Given the description of an element on the screen output the (x, y) to click on. 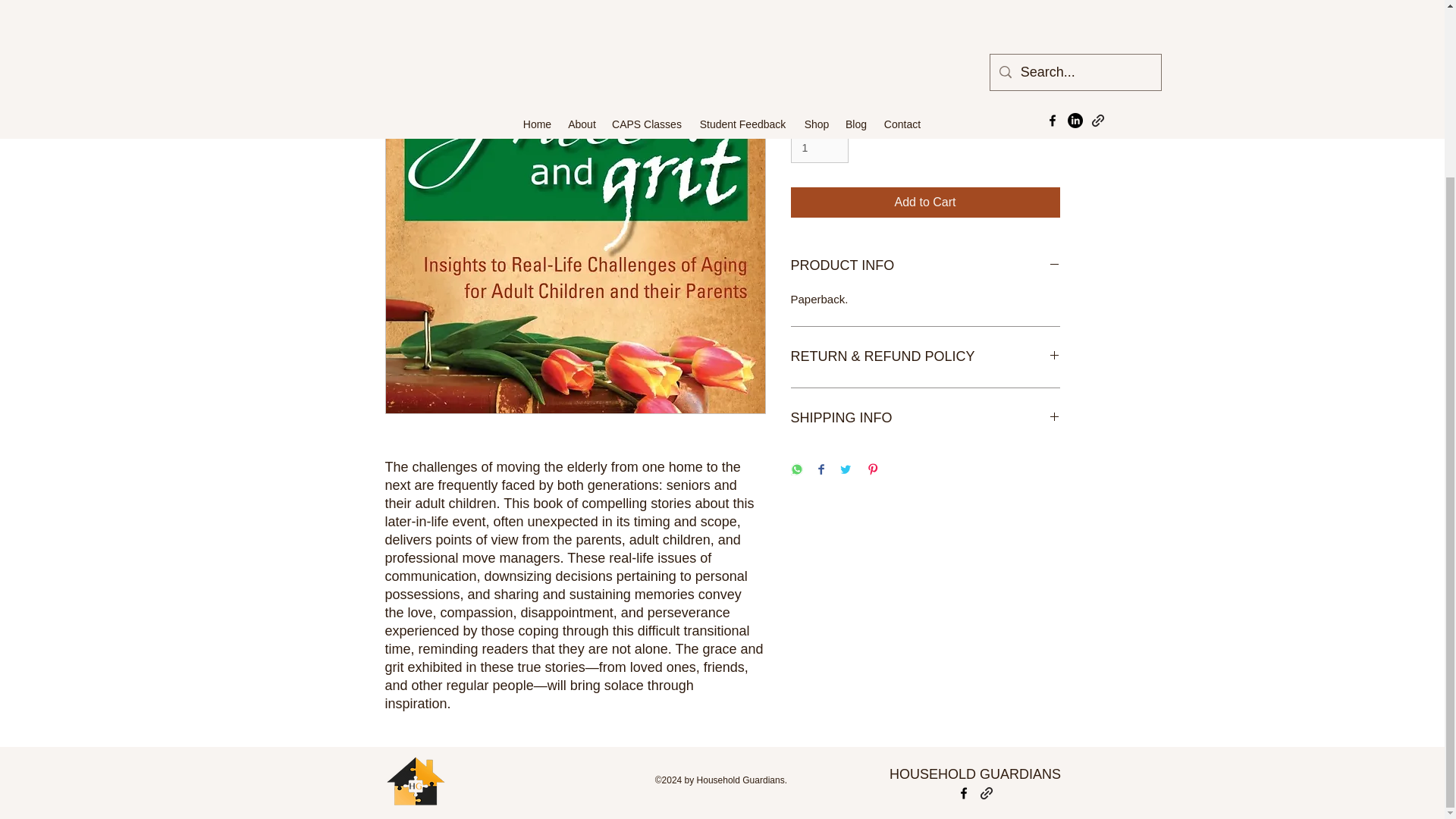
Add to Cart (924, 202)
PRODUCT INFO (924, 265)
1 (818, 147)
SHIPPING INFO (924, 418)
